Given the description of an element on the screen output the (x, y) to click on. 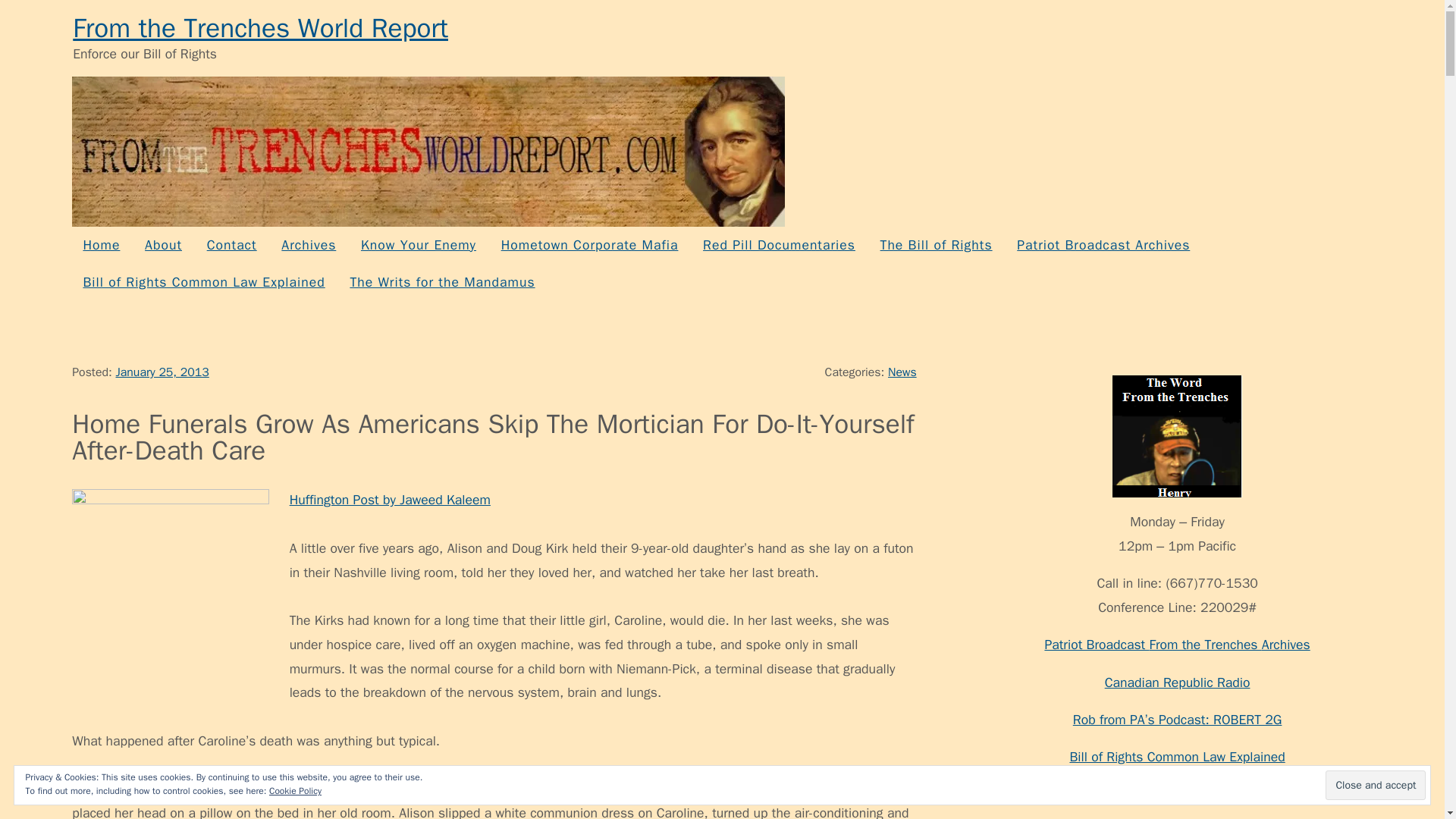
Patriot Broadcast Archives (1103, 244)
Archives (308, 244)
kirk (170, 586)
News (902, 372)
January 25, 2013 (161, 372)
The Bill of Rights (935, 244)
Bill of Rights Common Law Explained (203, 282)
Red Pill Documentaries (778, 244)
About (163, 244)
Huffington Post by Jaweed Kaleem (389, 499)
From the Trenches World Report (260, 28)
Hometown Corporate Mafia (588, 244)
Close and accept (1374, 785)
Contact (231, 244)
Home (100, 244)
